Given the description of an element on the screen output the (x, y) to click on. 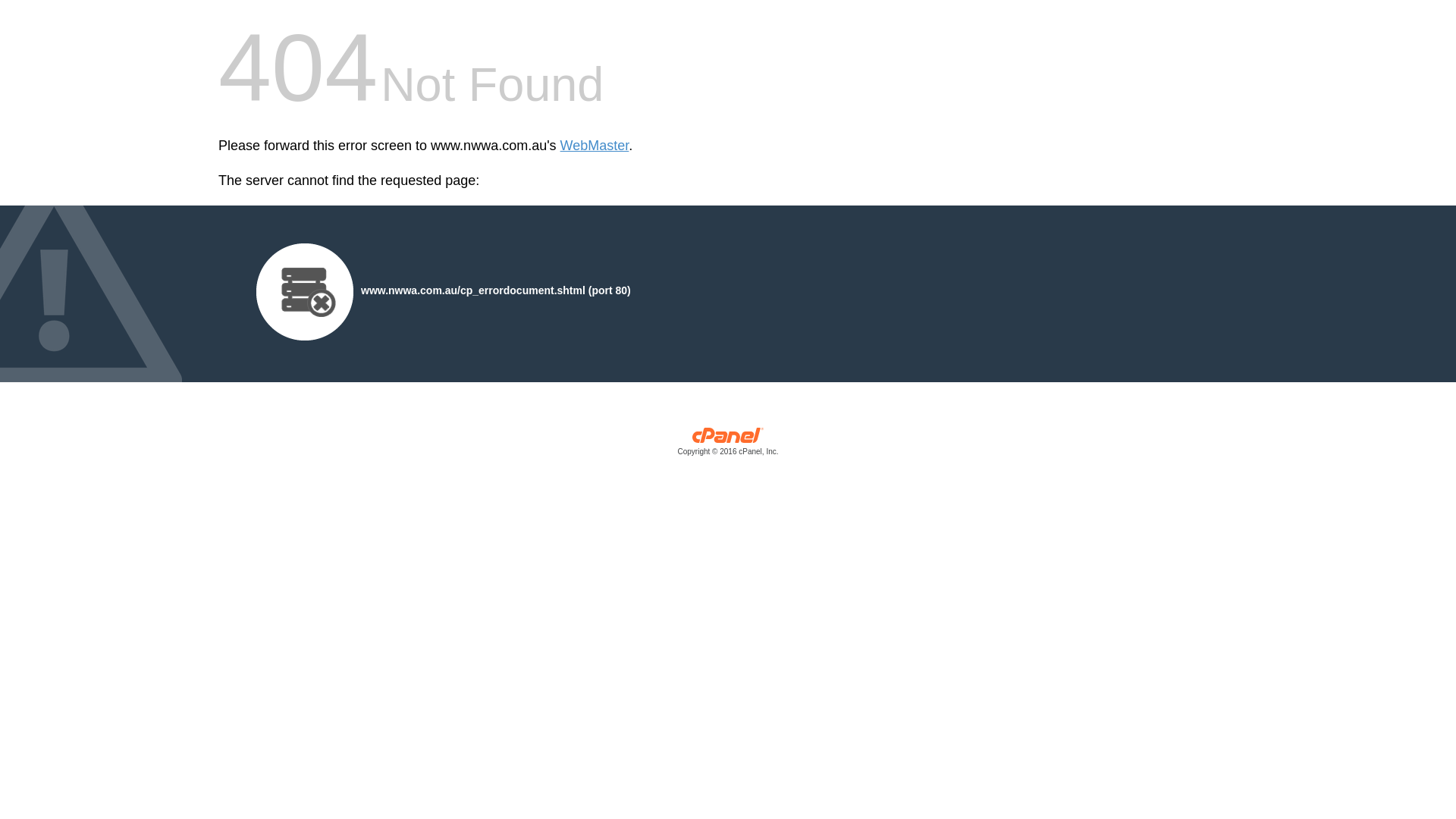
WebMaster Element type: text (594, 145)
